Given the description of an element on the screen output the (x, y) to click on. 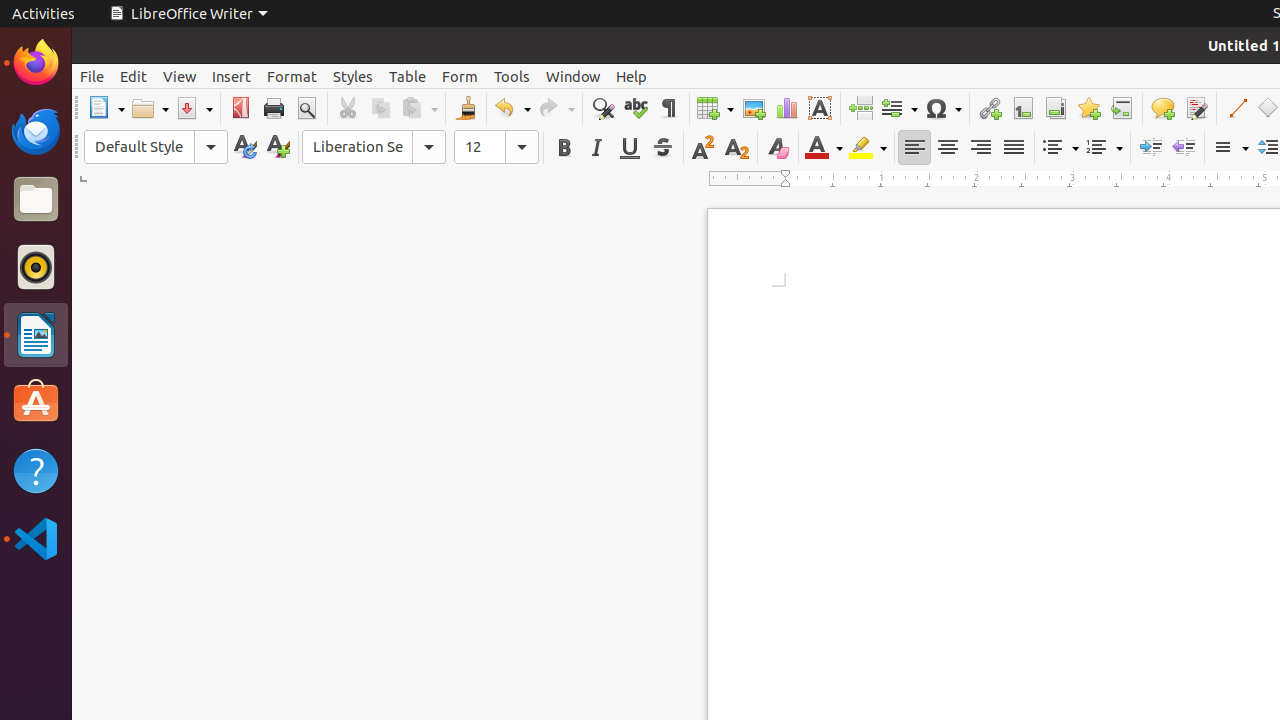
Insert Element type: menu (231, 76)
Text Box Element type: push-button (819, 108)
Clone Element type: push-button (465, 108)
Highlight Color Element type: push-button (868, 147)
Print Preview Element type: toggle-button (306, 108)
